Given the description of an element on the screen output the (x, y) to click on. 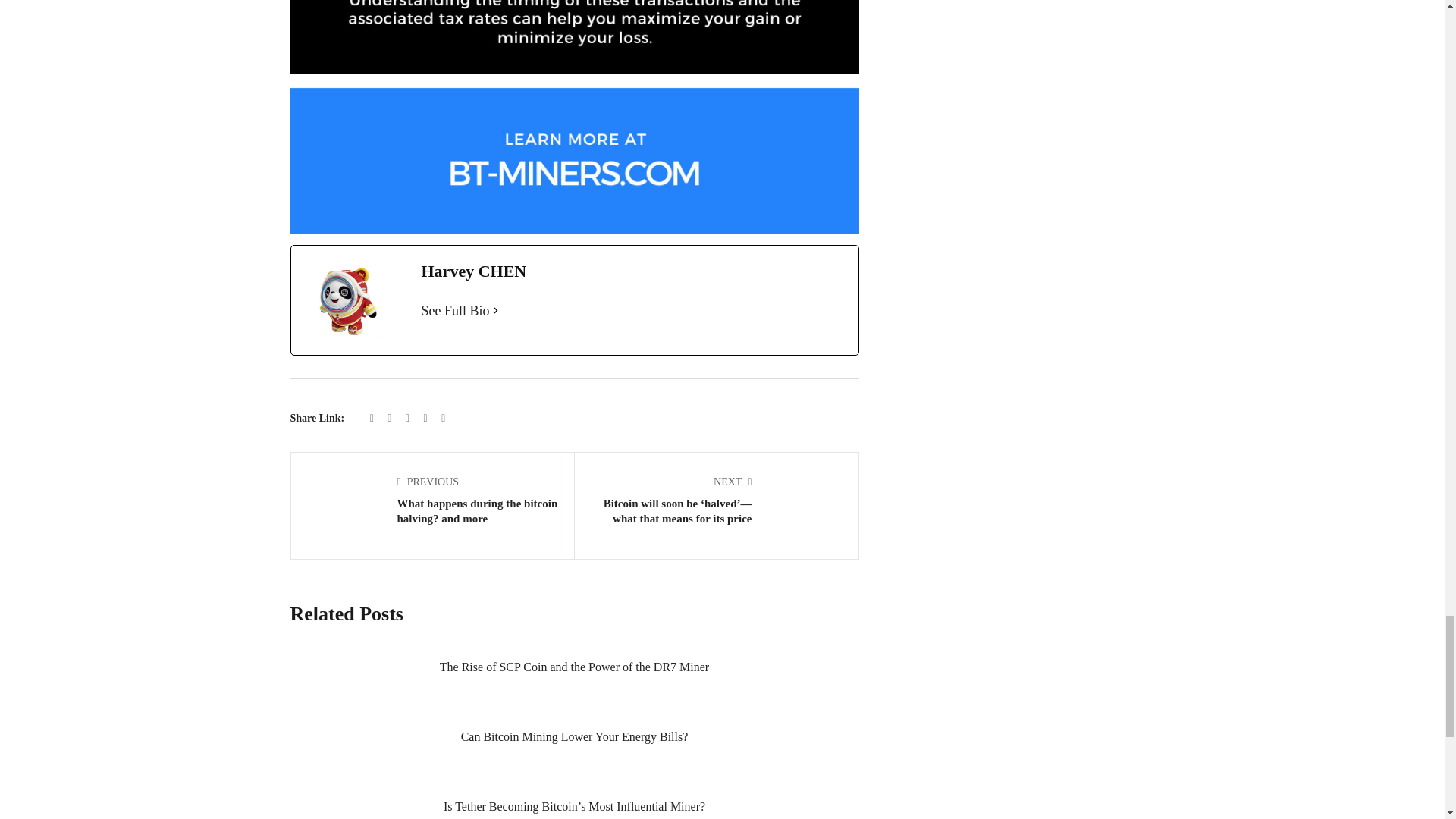
Share on Pinterest (443, 418)
Share on Tumblr (426, 418)
Share on facebook (373, 418)
Share on LinkedIn (409, 418)
Share on Twitter (390, 418)
